Given the description of an element on the screen output the (x, y) to click on. 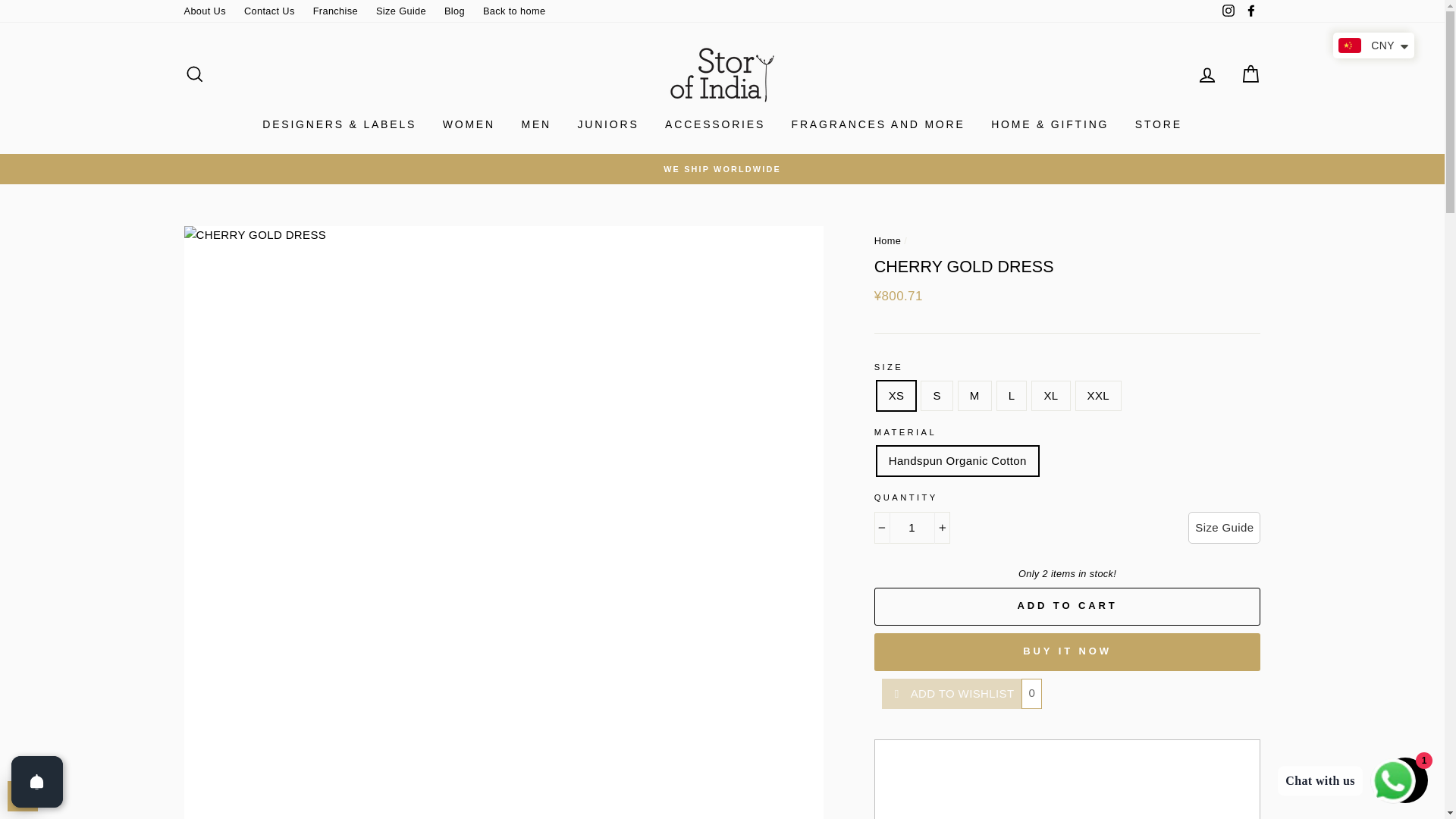
1 (912, 527)
Size Chart (1224, 527)
Back to the frontpage (888, 240)
Shopify online store chat (1404, 781)
